Given the description of an element on the screen output the (x, y) to click on. 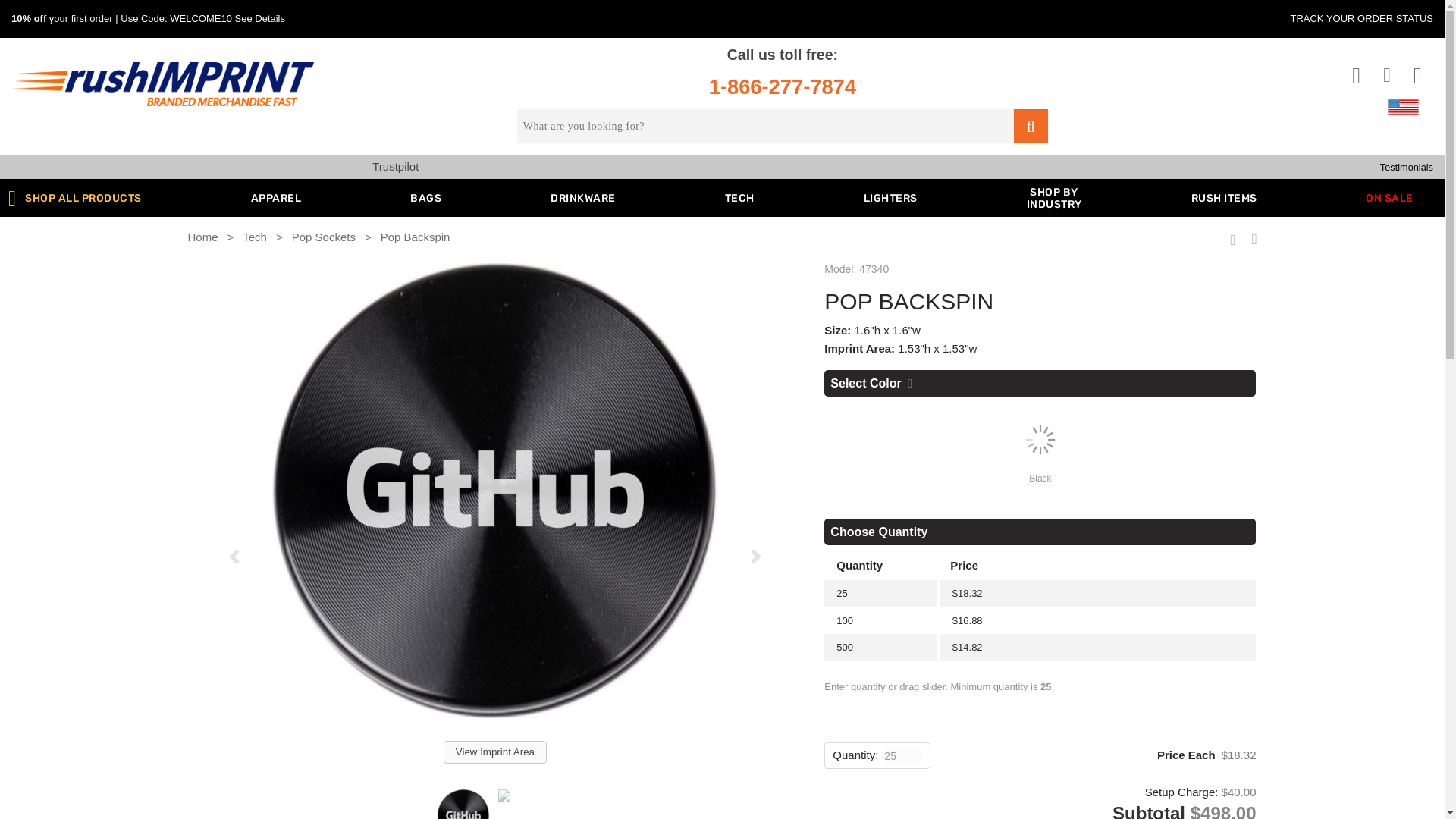
Tech (739, 198)
RUSH ITEMS (1224, 198)
Rush Items (1224, 198)
Drinkware  (583, 198)
On Sale (1389, 198)
ON SALE (1389, 198)
APPAREL (276, 198)
See Details (1054, 198)
1-866-277-7874 (259, 18)
Bags  (782, 87)
BAGS (425, 198)
TECH (425, 198)
LIGHTERS (739, 198)
Testimonials (890, 198)
